Given the description of an element on the screen output the (x, y) to click on. 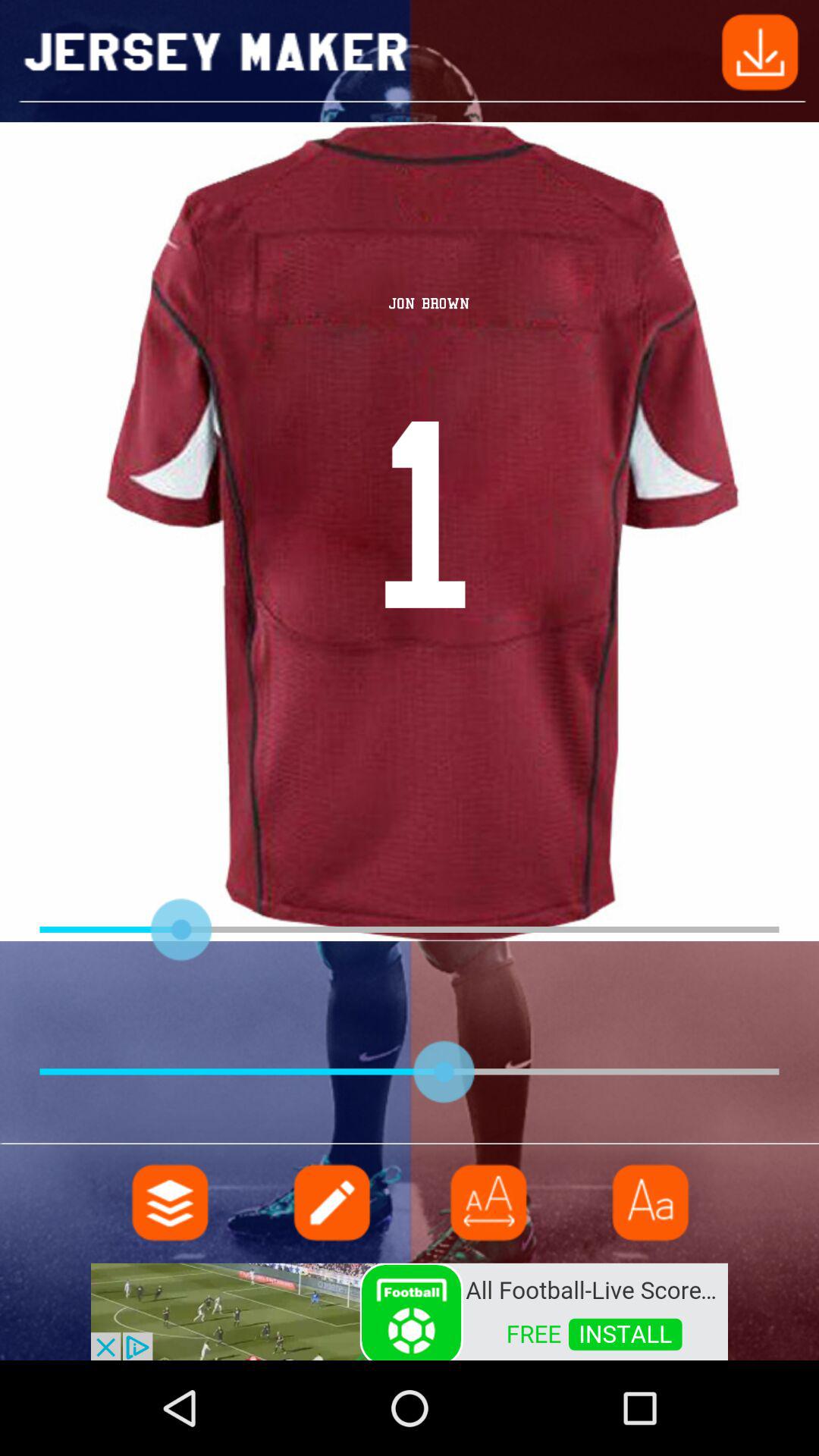
advertisement (409, 1310)
